Given the description of an element on the screen output the (x, y) to click on. 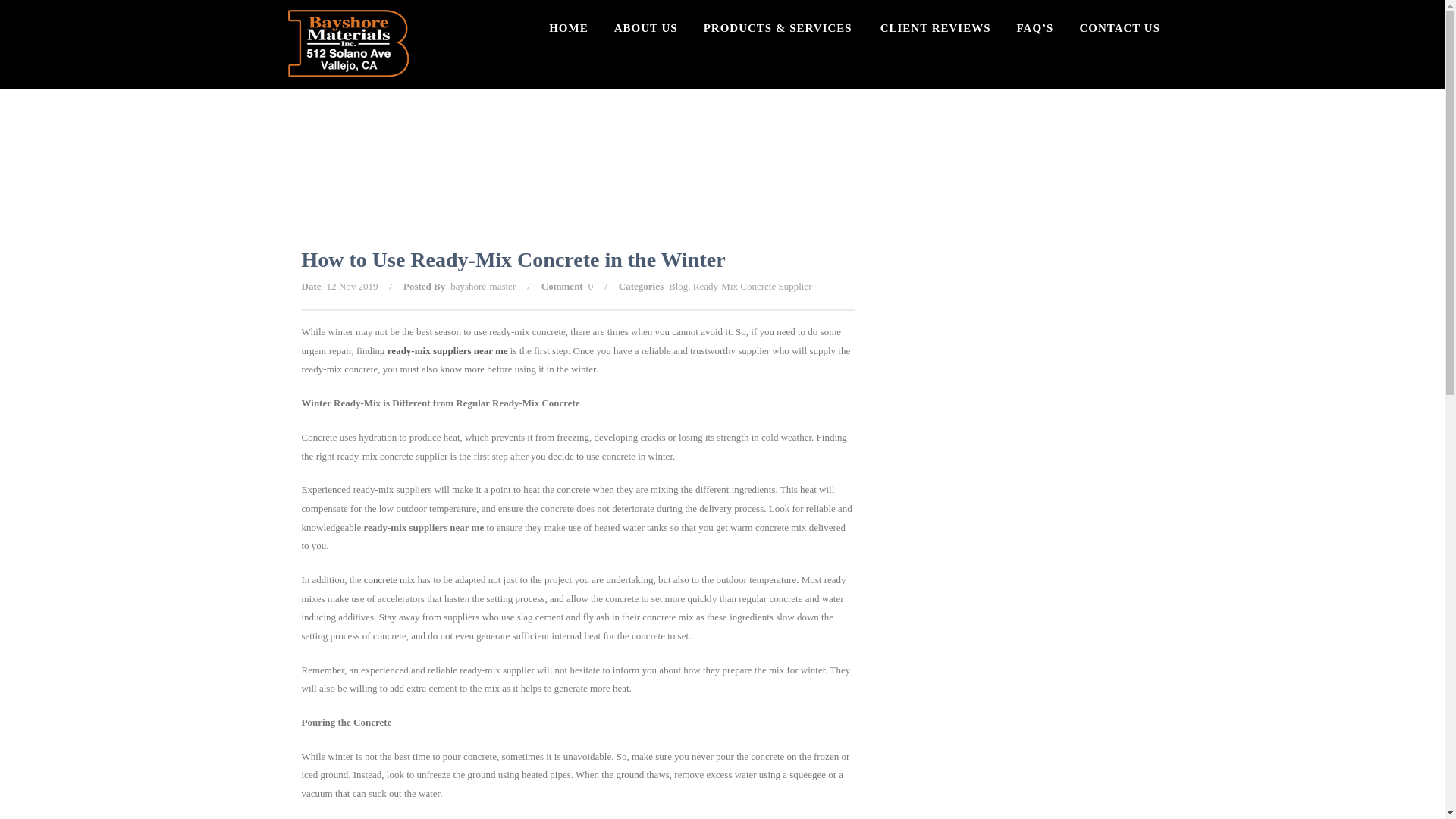
ABOUT US (645, 39)
HOME (574, 39)
Posts by bayshore-master (482, 285)
